Given the description of an element on the screen output the (x, y) to click on. 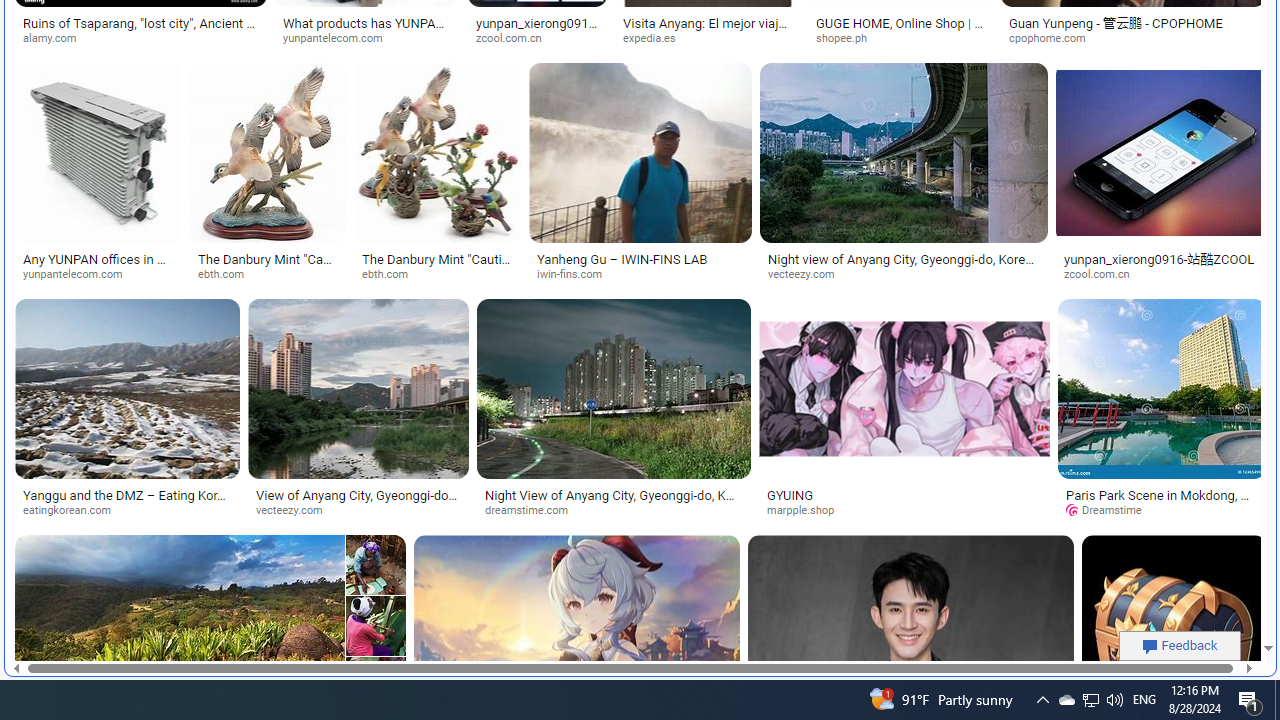
eatingkorean.com (127, 511)
marpple.shop (903, 511)
Dreamstime (1162, 511)
Image result for guge yunpan (1173, 625)
dreamstime.com (533, 509)
shopee.ph (848, 37)
yunpantelecom.com (79, 273)
yunpantelecom.com (98, 274)
